Given the description of an element on the screen output the (x, y) to click on. 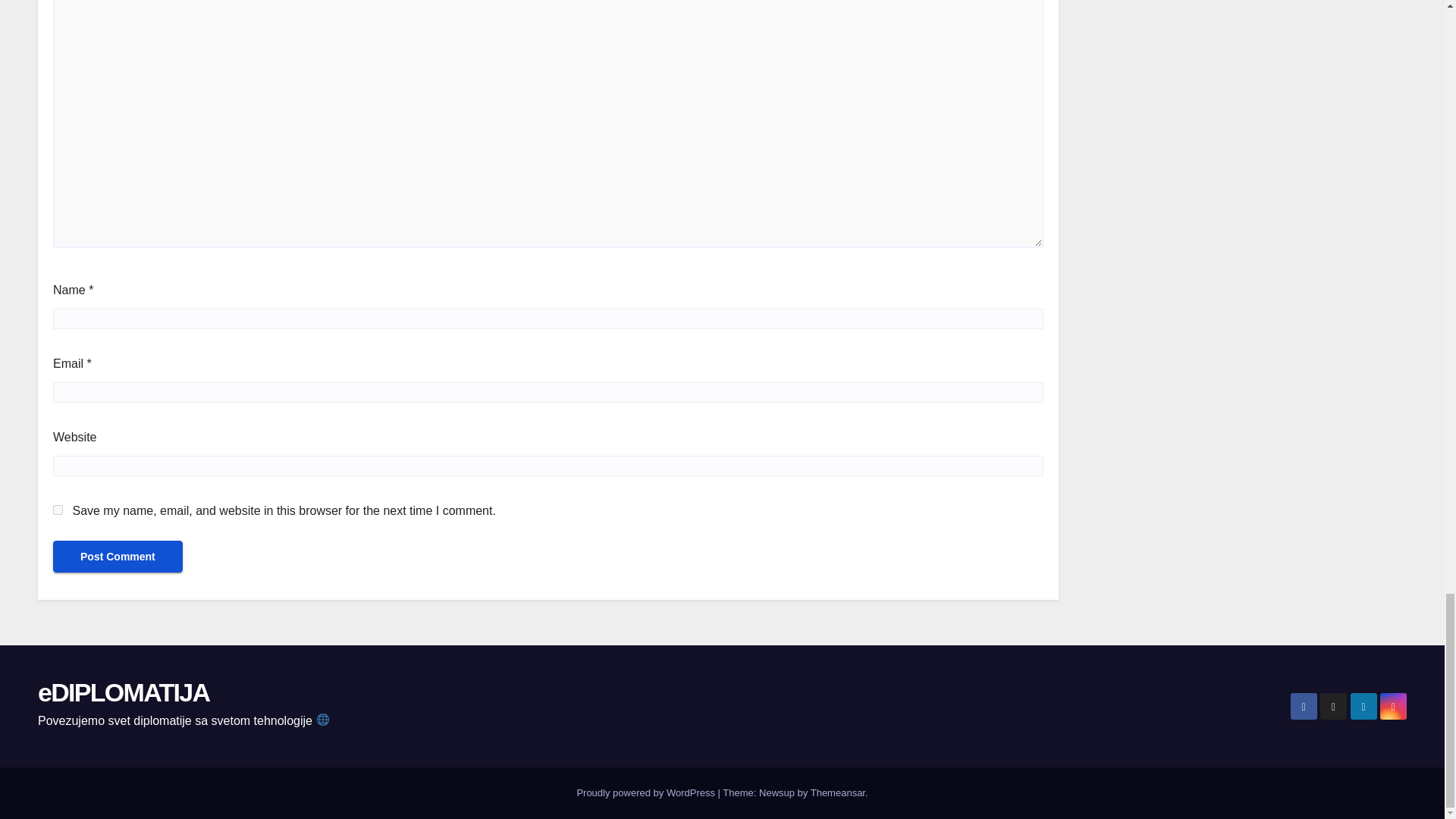
yes (57, 510)
Post Comment (117, 556)
